Given the description of an element on the screen output the (x, y) to click on. 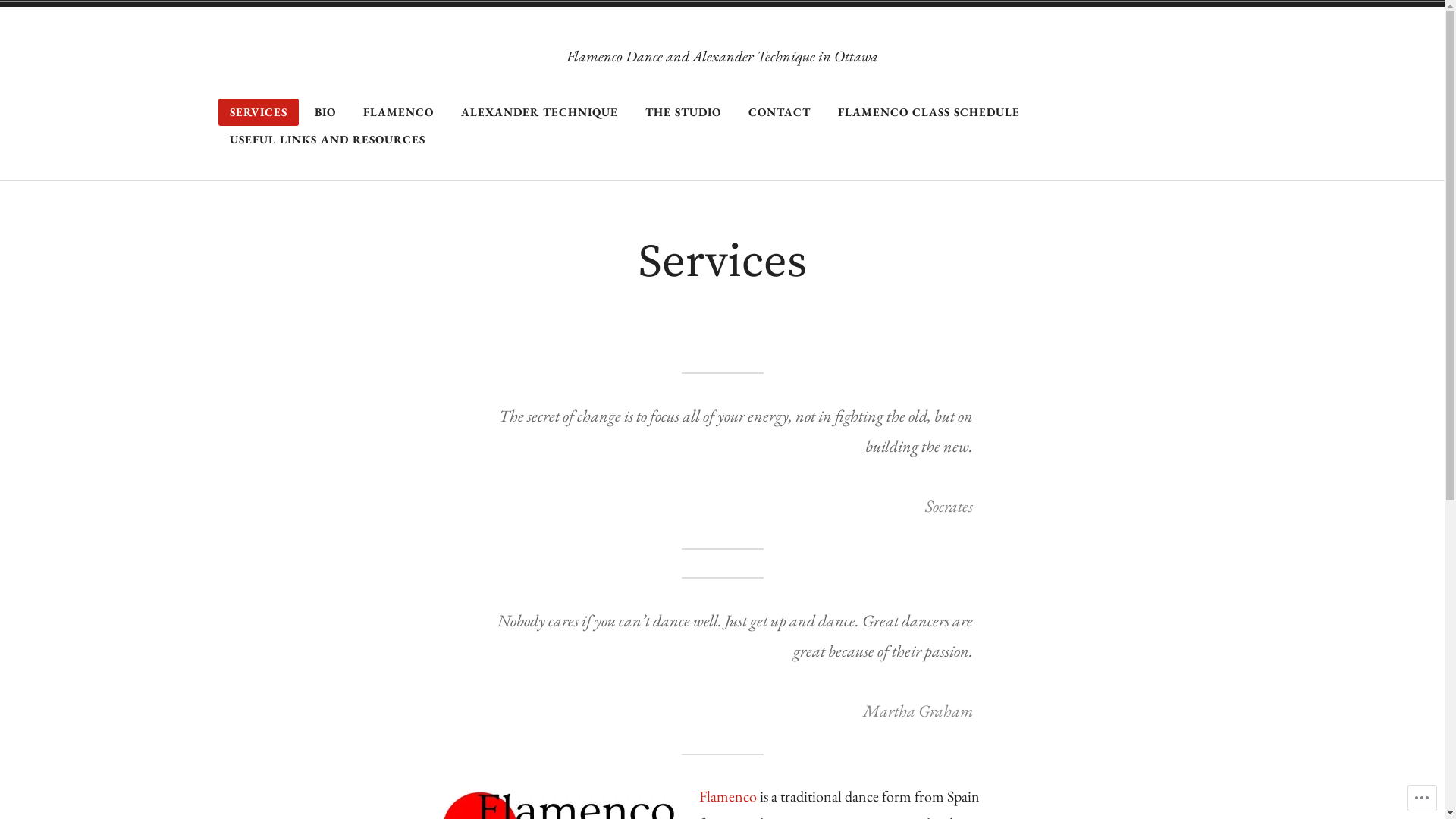
SERVICES Element type: text (258, 111)
FLAMENCO CLASS SCHEDULE Element type: text (928, 111)
ALEXANDER TECHNIQUE Element type: text (538, 111)
CONTACT Element type: text (779, 111)
USEFUL LINKS AND RESOURCES Element type: text (327, 139)
THE STUDIO Element type: text (682, 111)
BIO Element type: text (325, 111)
FLAMENCO Element type: text (398, 111)
Flamenco Element type: text (727, 796)
